Given the description of an element on the screen output the (x, y) to click on. 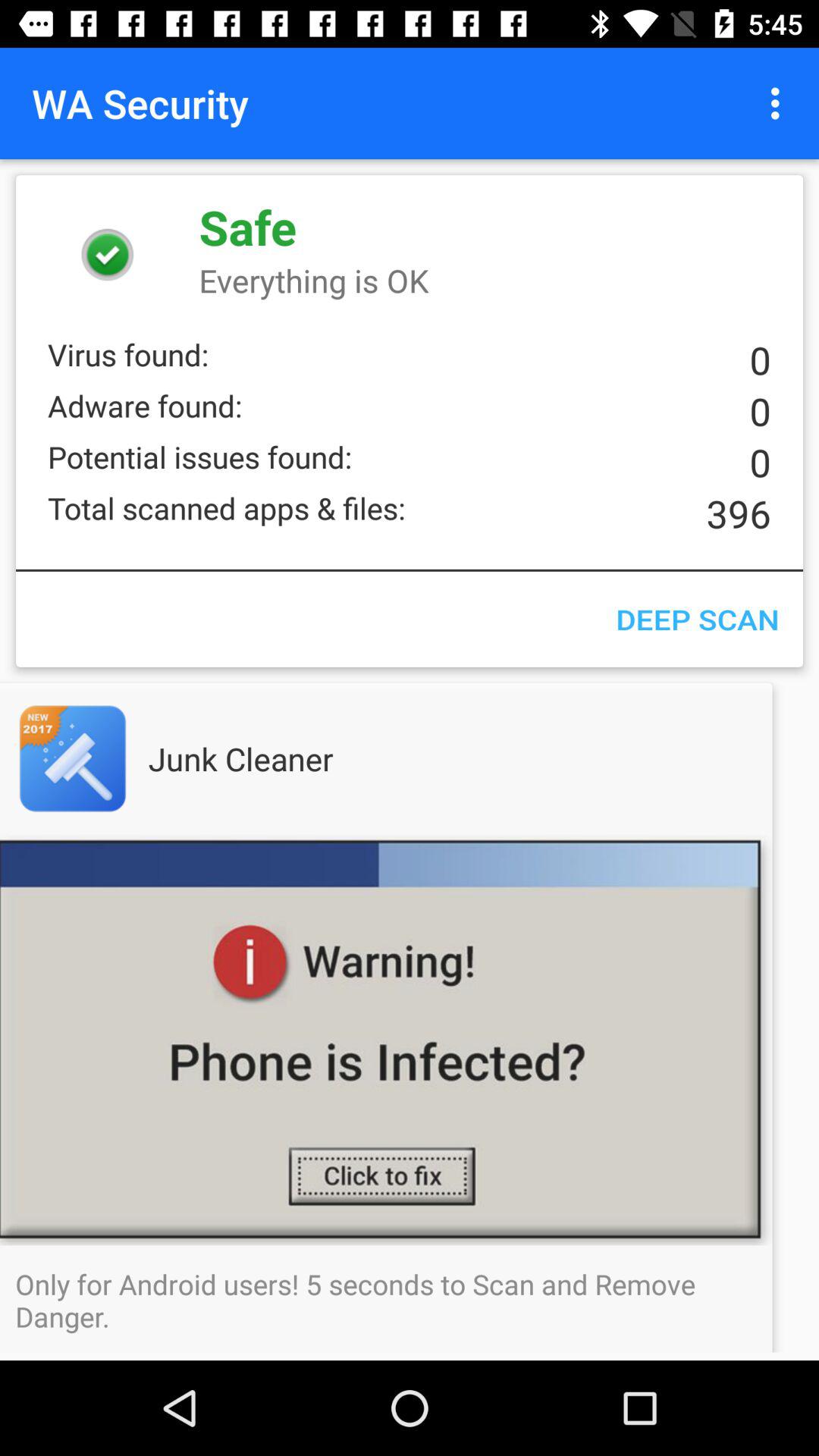
click junk cleaner icon (271, 758)
